Given the description of an element on the screen output the (x, y) to click on. 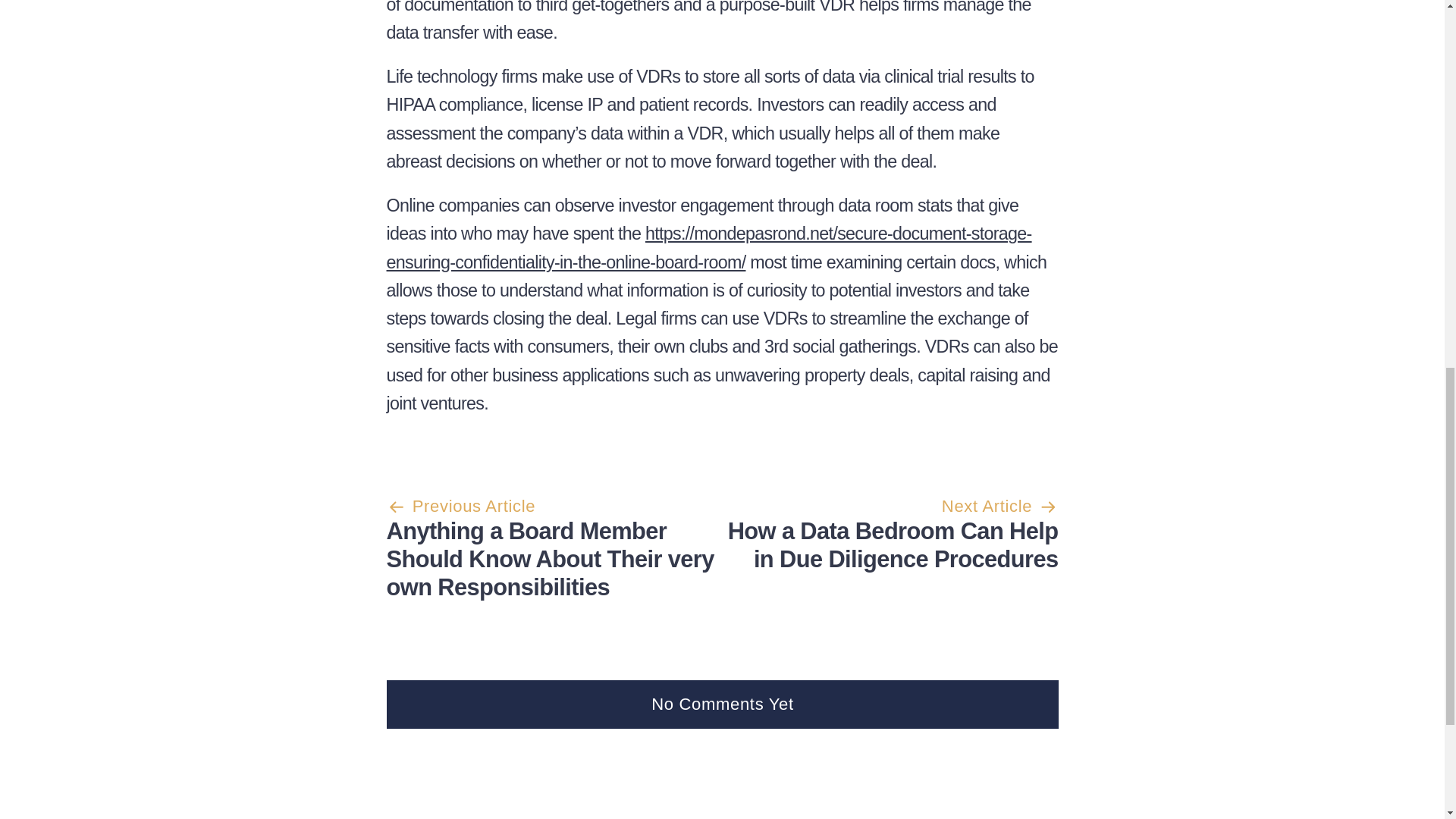
How a Data Bedroom Can Help in Due Diligence Procedures (893, 544)
